Given the description of an element on the screen output the (x, y) to click on. 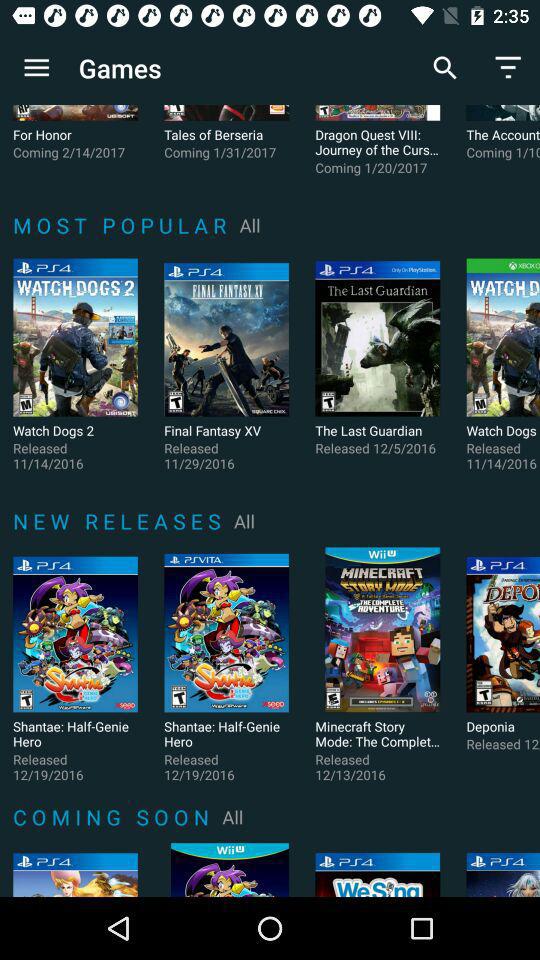
click the icon below the released 11 14 item (120, 520)
